Given the description of an element on the screen output the (x, y) to click on. 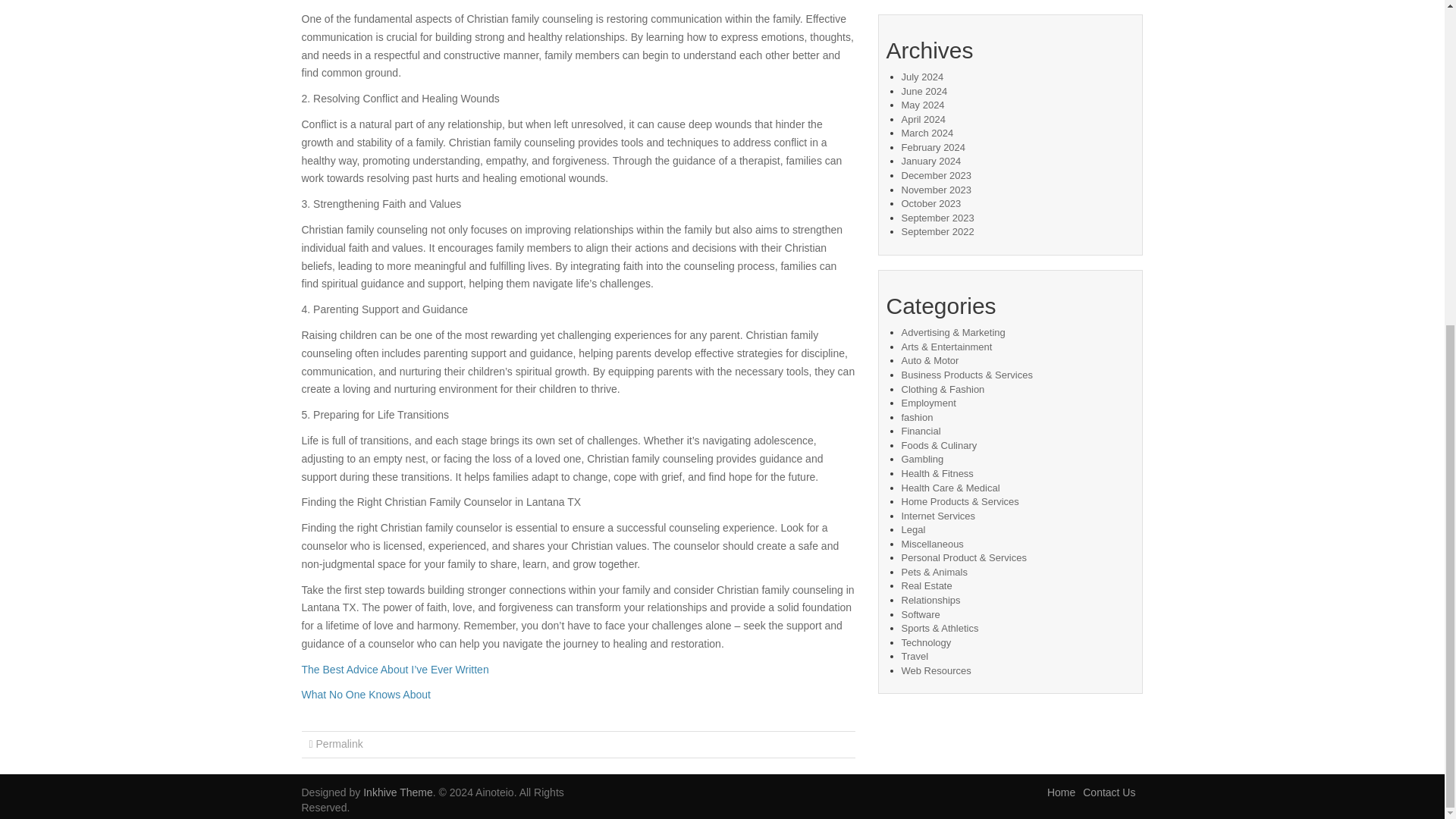
Permalink (338, 743)
June 2024 (924, 91)
May 2024 (922, 104)
March 2024 (927, 132)
January 2024 (930, 161)
September 2022 (937, 231)
November 2023 (936, 189)
July 2024 (922, 76)
September 2023 (937, 217)
April 2024 (922, 119)
Employment (928, 402)
What No One Knows About (365, 694)
October 2023 (930, 203)
fashion (917, 417)
December 2023 (936, 174)
